Given the description of an element on the screen output the (x, y) to click on. 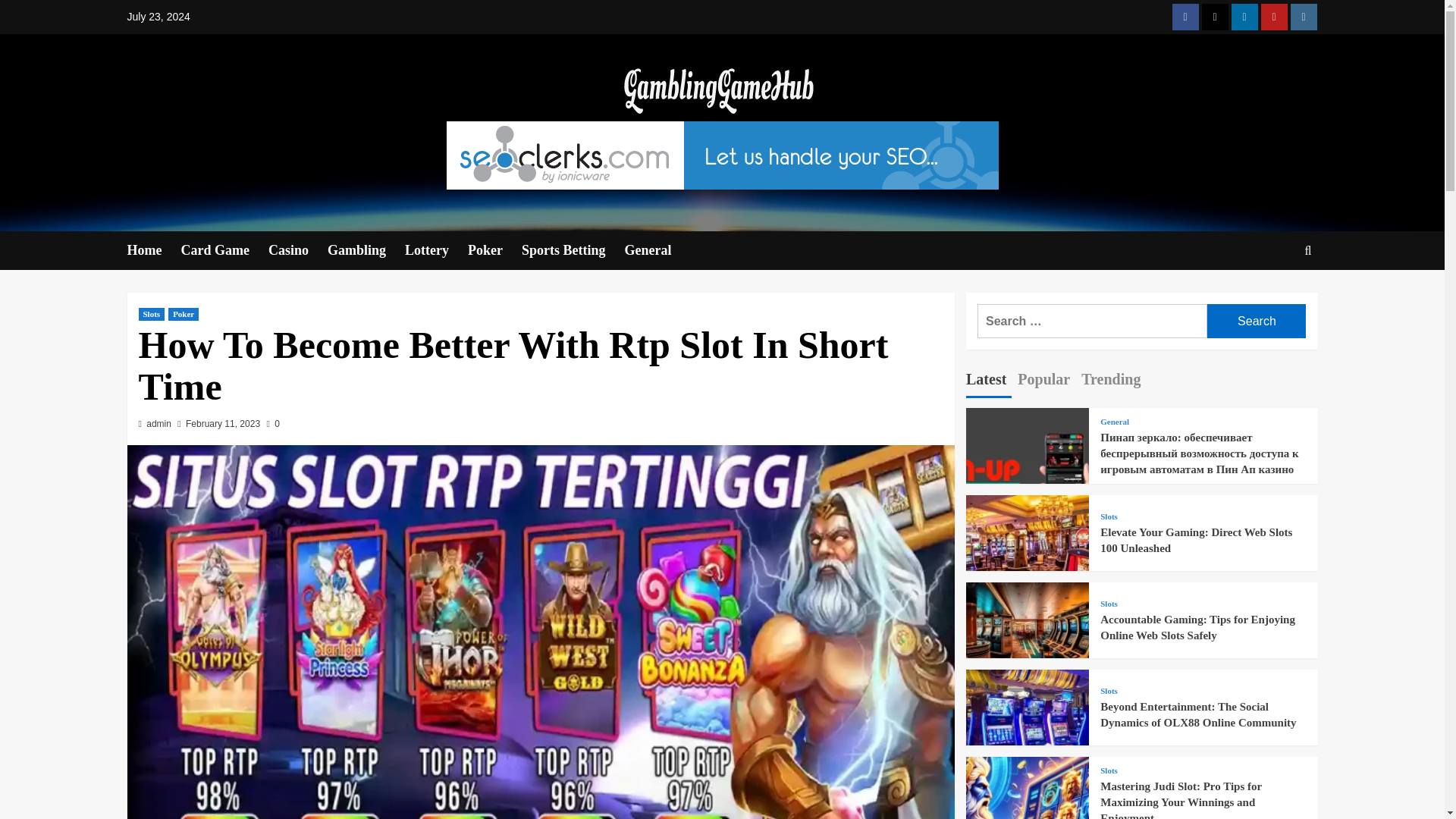
February 11, 2023 (223, 423)
Search (1256, 320)
Card Game (223, 250)
admin (159, 423)
Search (1256, 320)
General (657, 250)
Gambling (365, 250)
0 (272, 423)
Search (1272, 297)
Poker (183, 314)
